Given the description of an element on the screen output the (x, y) to click on. 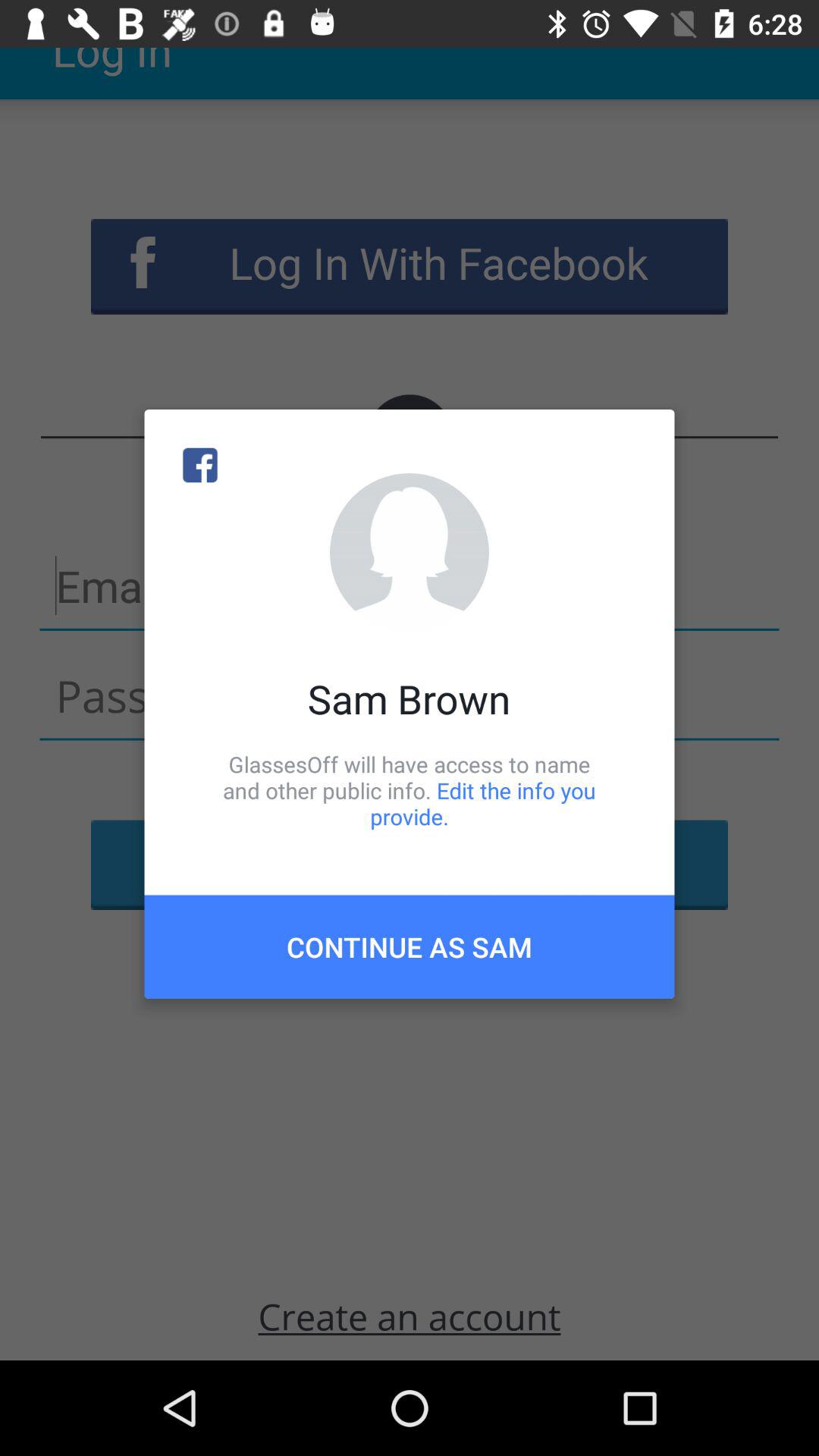
turn off the icon above the continue as sam item (409, 790)
